Given the description of an element on the screen output the (x, y) to click on. 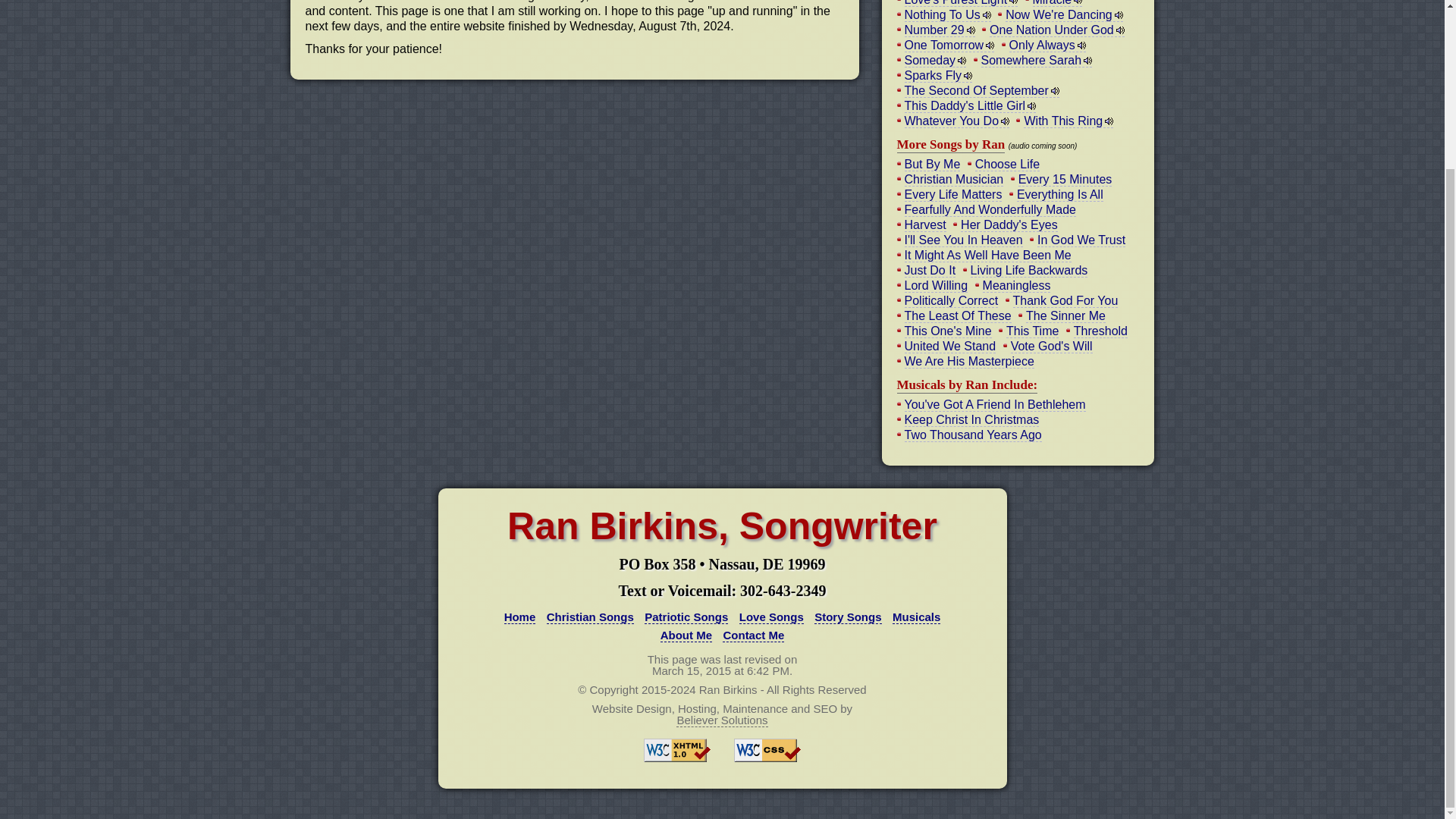
Christian Musician (953, 179)
Choose Life (1007, 164)
One Tomorrow (949, 45)
Harvest (924, 224)
Love's Purest Light (960, 3)
Whatever You Do (956, 120)
One Tomorrow (949, 45)
With This Ring (1068, 120)
The Second Of September (981, 90)
Love's Purest Light (960, 3)
Somewhere Sarah (1037, 60)
Number 29 - Kriston Palomo (939, 29)
Choose Life (1007, 164)
Only Always (1047, 45)
Now We're Dancing (1064, 15)
